Given the description of an element on the screen output the (x, y) to click on. 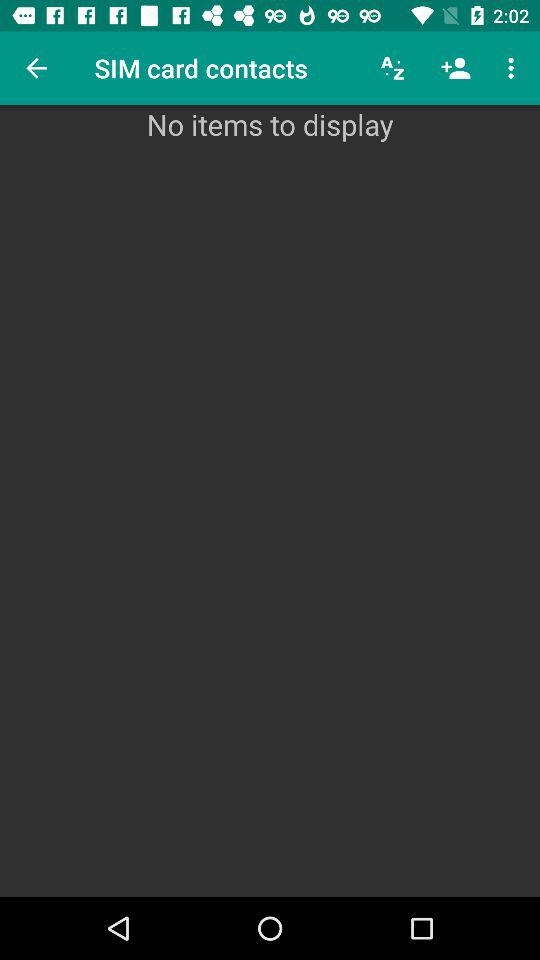
turn off the icon next to sim card contacts (392, 67)
